Given the description of an element on the screen output the (x, y) to click on. 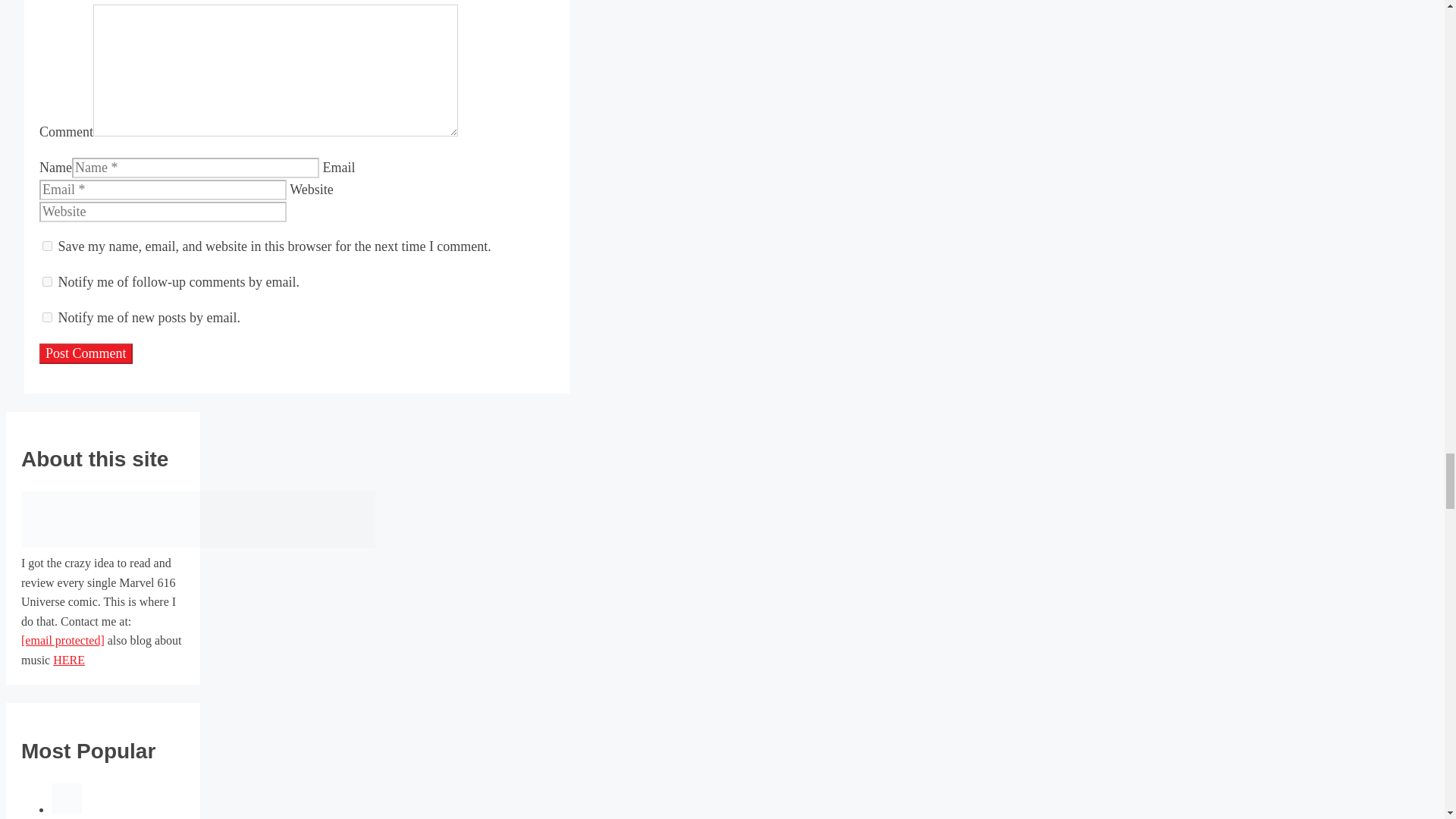
Post Comment (85, 353)
subscribe (47, 281)
yes (47, 245)
subscribe (47, 317)
